Given the description of an element on the screen output the (x, y) to click on. 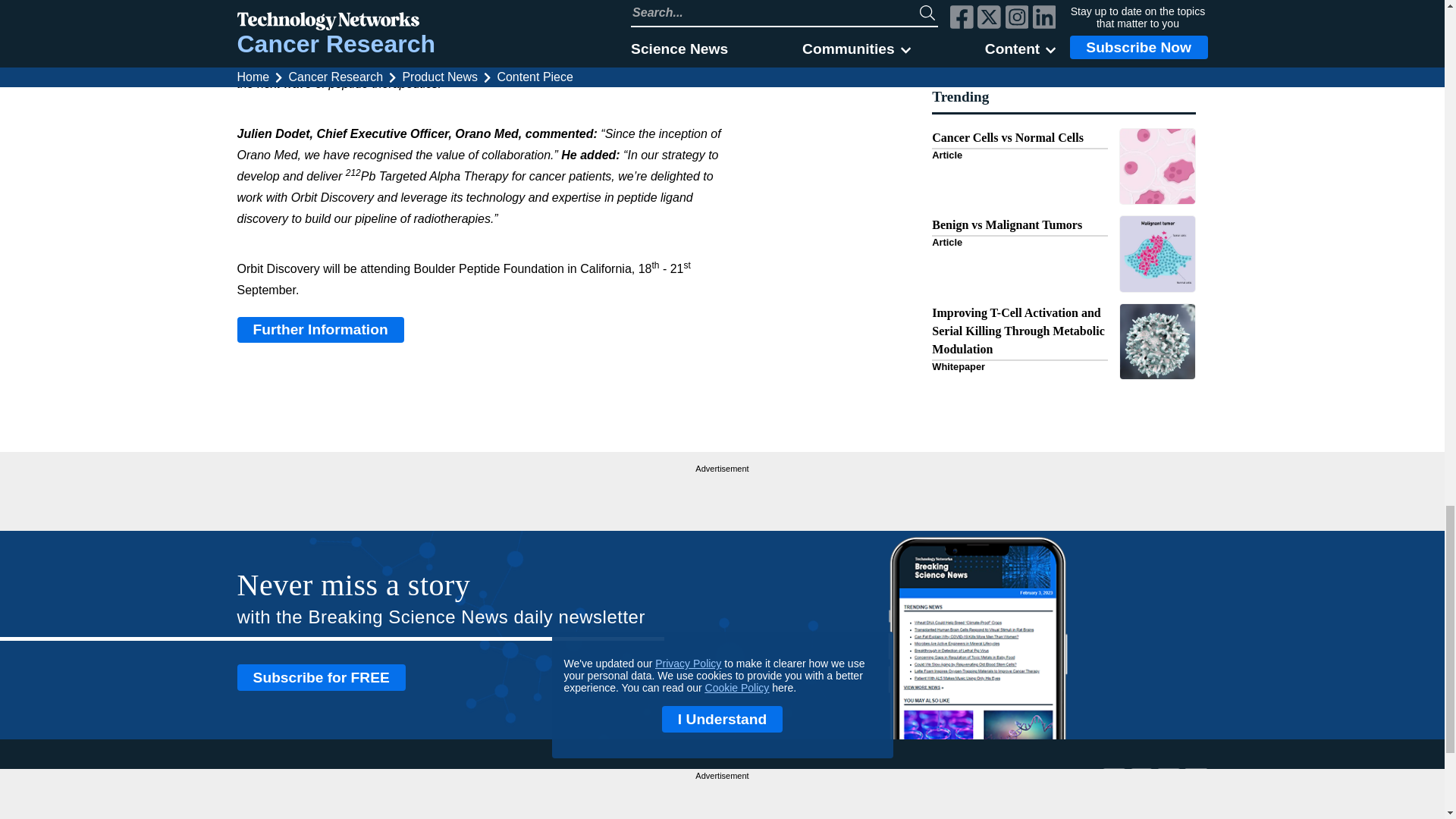
Link to Technology Networks' linkedin page (1196, 788)
Link to Technology Networks' instagram page (1171, 788)
Link to Technology Networks' facebook page (1115, 788)
3rd party ad content (721, 495)
Link to Technology Networks' twitter page (1143, 788)
